Given the description of an element on the screen output the (x, y) to click on. 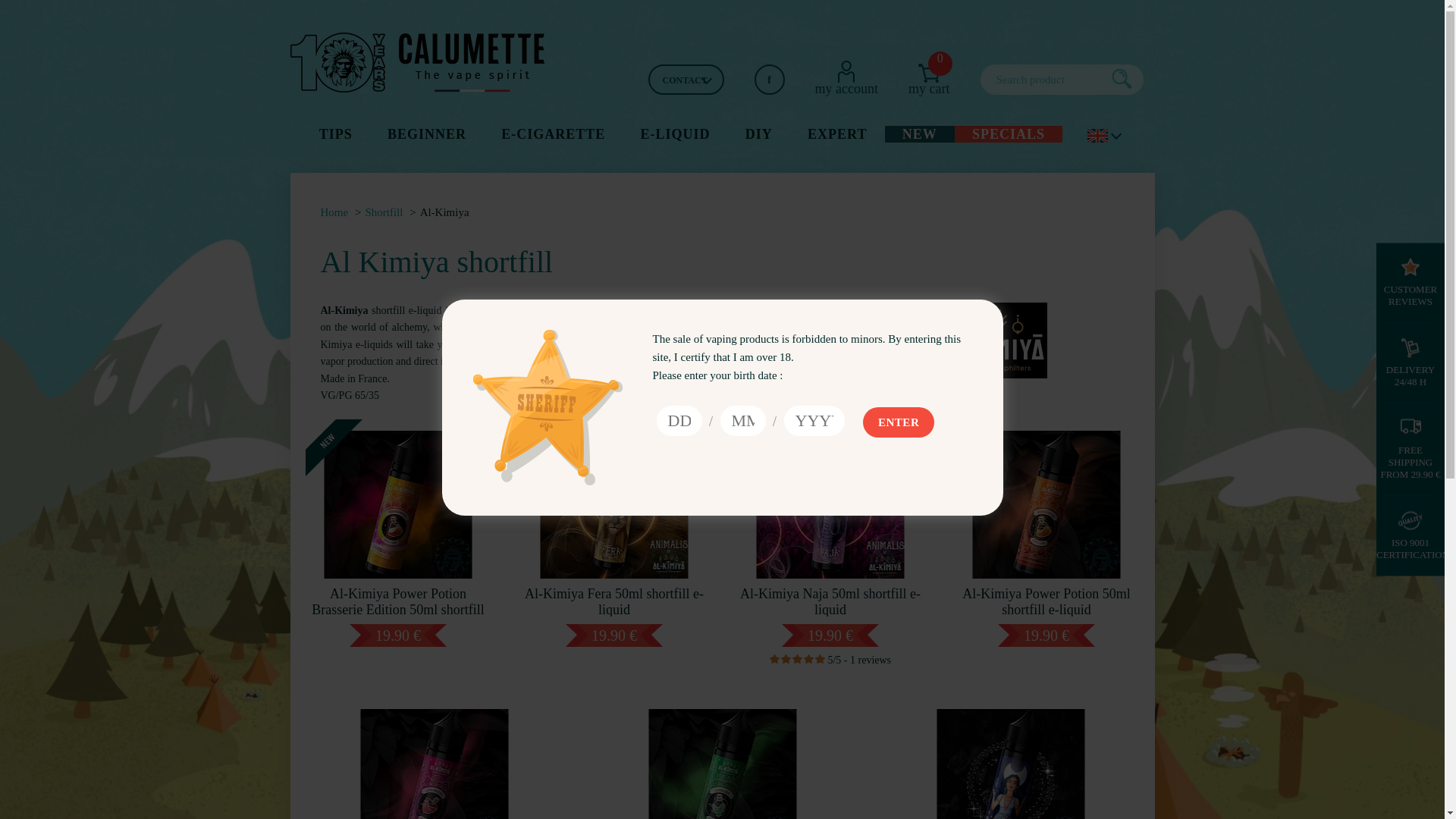
Al-Kimiya Naja 50ml shortfill e-liquid (829, 521)
f (769, 79)
CONTACT (685, 79)
TIPS (335, 134)
Al-Kimiya The Moon 50ml shortfill e-liquid (1010, 758)
Shortfill (384, 212)
Home (928, 79)
Al-Kimiya Love Philter 50ml shortfill e-liquid (333, 212)
